Given the description of an element on the screen output the (x, y) to click on. 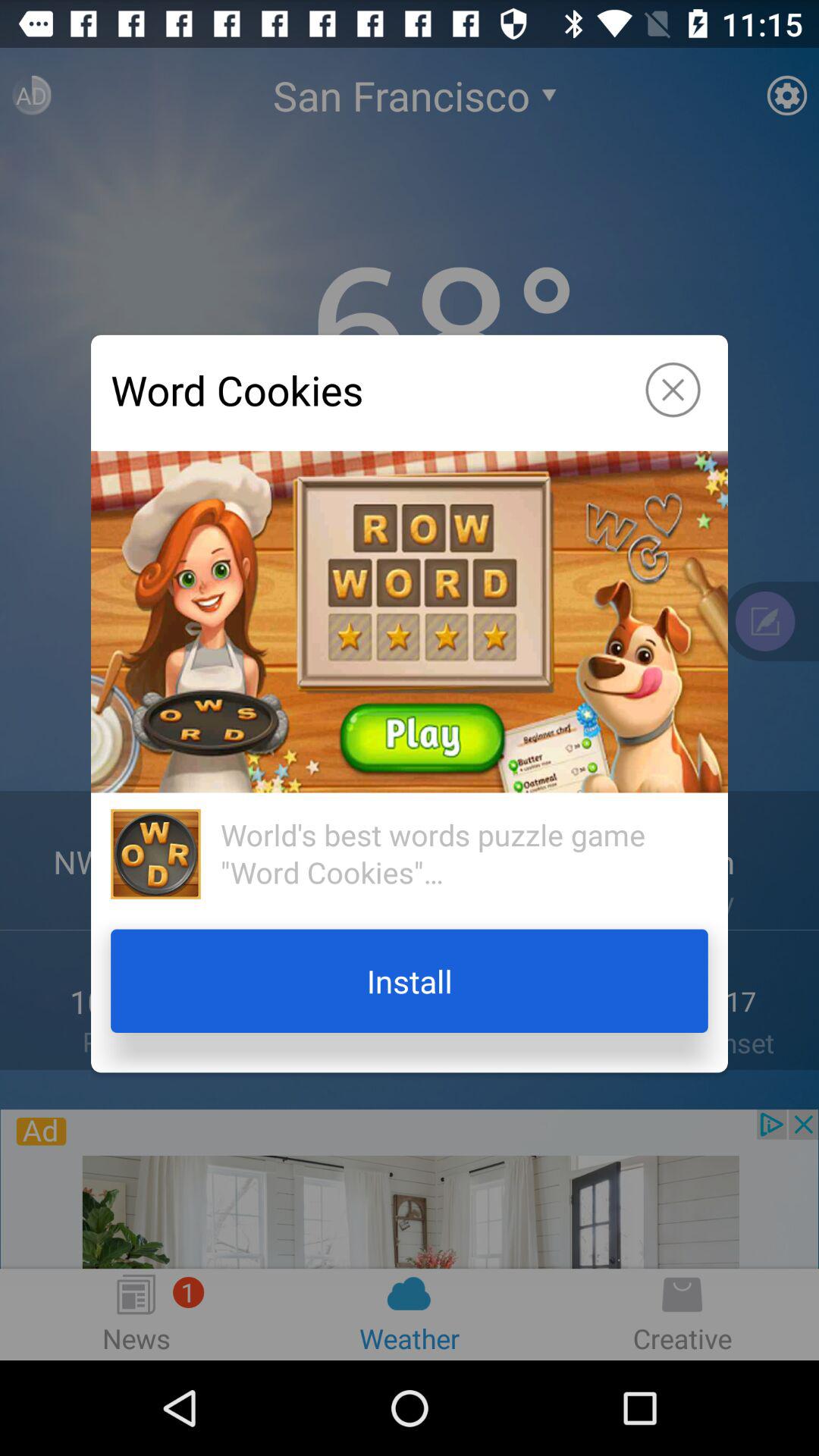
open the app next to the word cookies (673, 389)
